Given the description of an element on the screen output the (x, y) to click on. 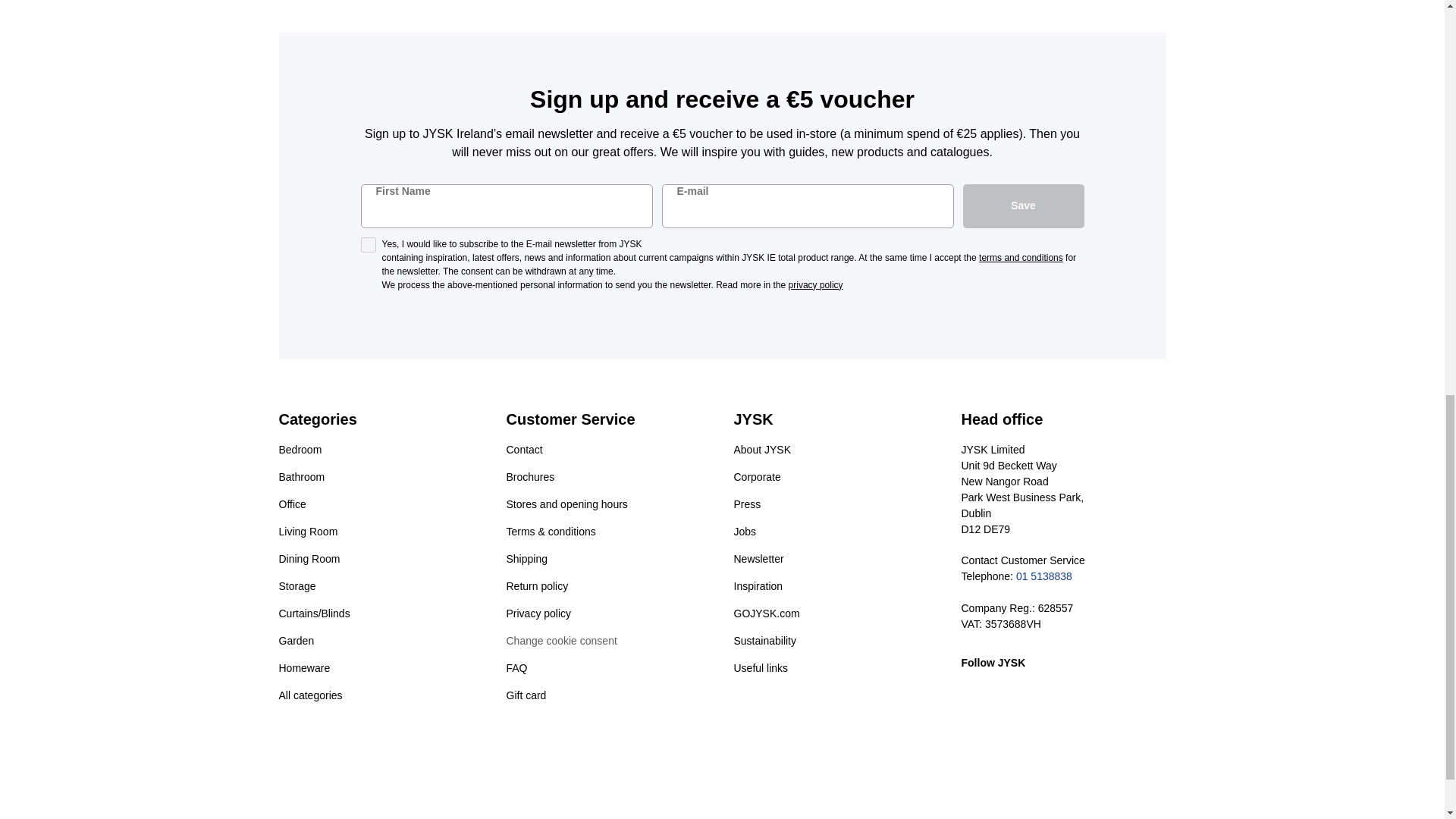
terms and conditions (1020, 257)
Storage (297, 592)
Dining Room (309, 564)
Bathroom (301, 482)
on (368, 244)
privacy policy (816, 285)
Save (1023, 206)
Bedroom (300, 455)
Living Room (308, 537)
Office (292, 510)
